Given the description of an element on the screen output the (x, y) to click on. 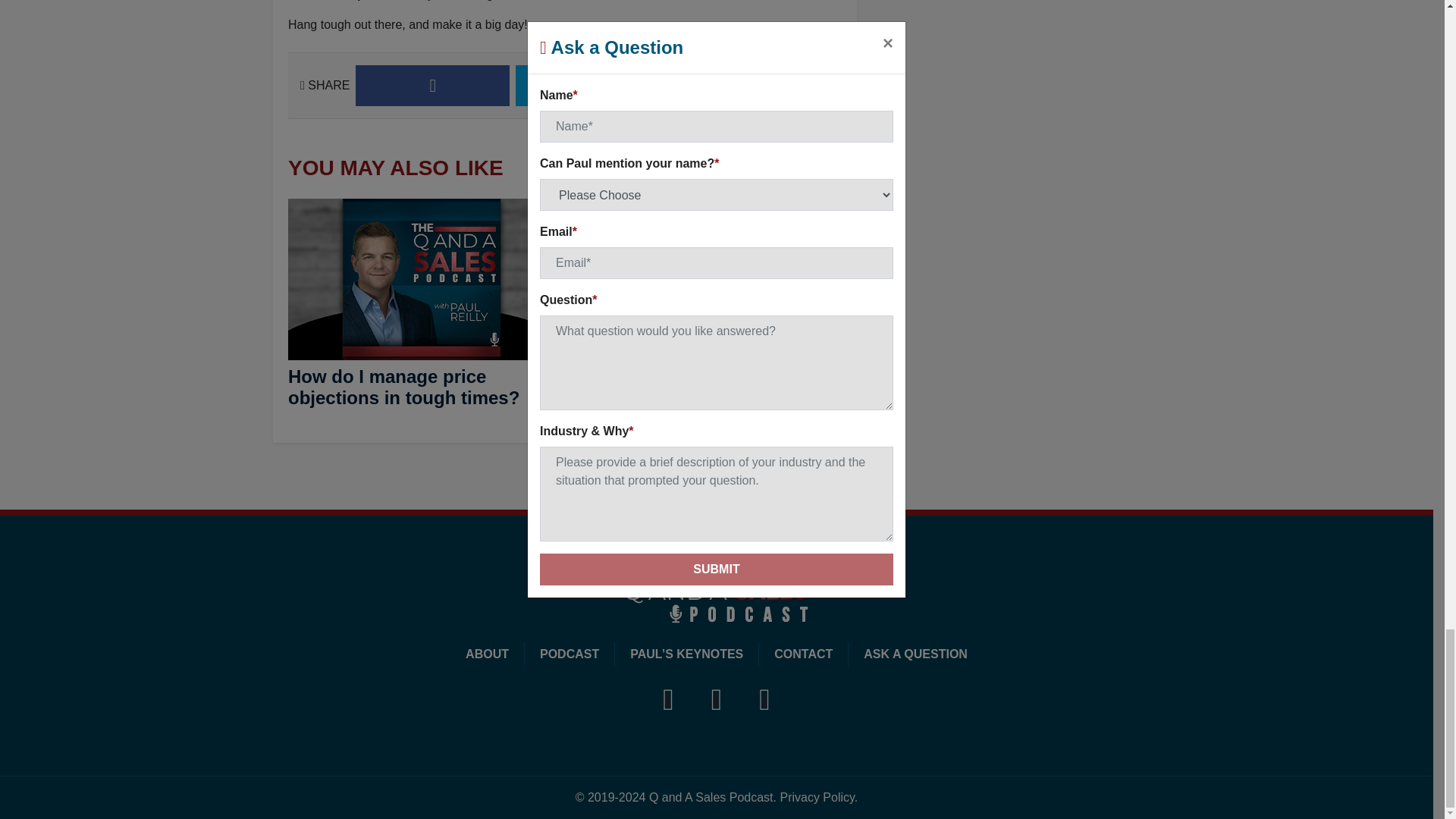
PODCAST (569, 654)
ASK A QUESTION (915, 654)
How do I manage price objections in tough times? (403, 387)
CONTACT (803, 654)
How do I manage and lead in uncertain times? (700, 387)
ABOUT (486, 654)
Q and A Sales Podcast (716, 594)
